Given the description of an element on the screen output the (x, y) to click on. 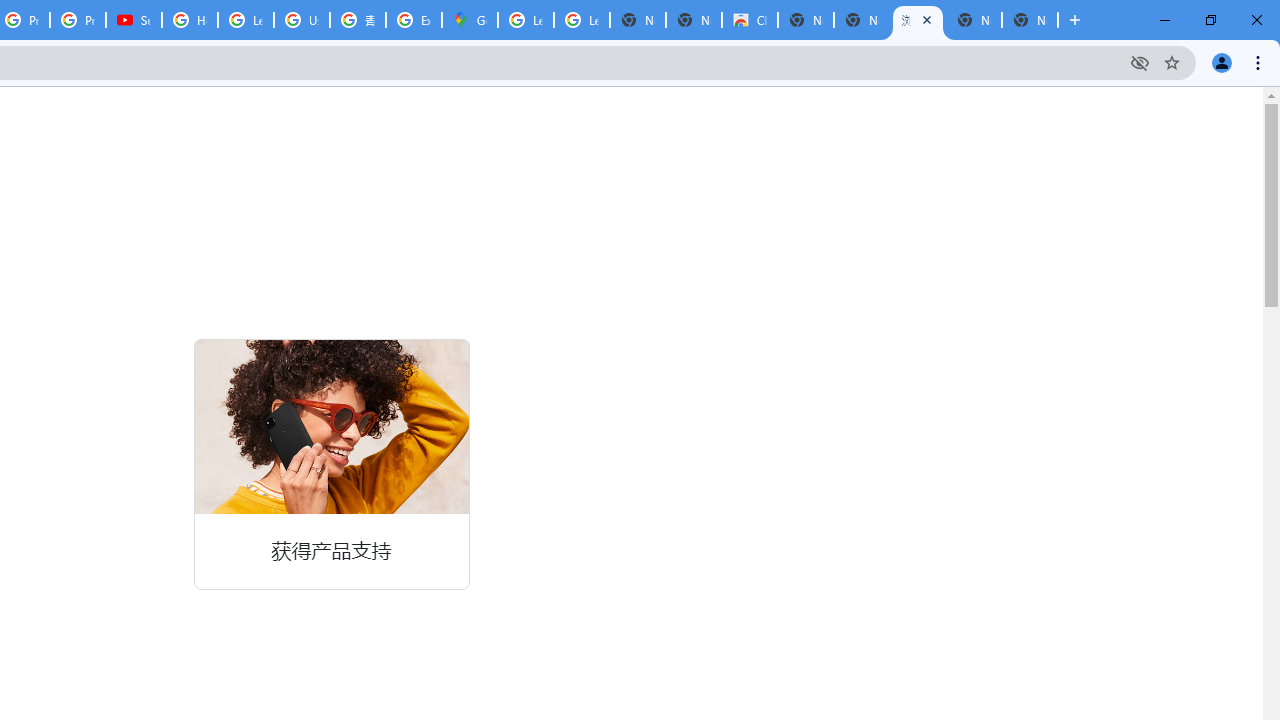
Google Maps (469, 20)
How Chrome protects your passwords - Google Chrome Help (189, 20)
